Given the description of an element on the screen output the (x, y) to click on. 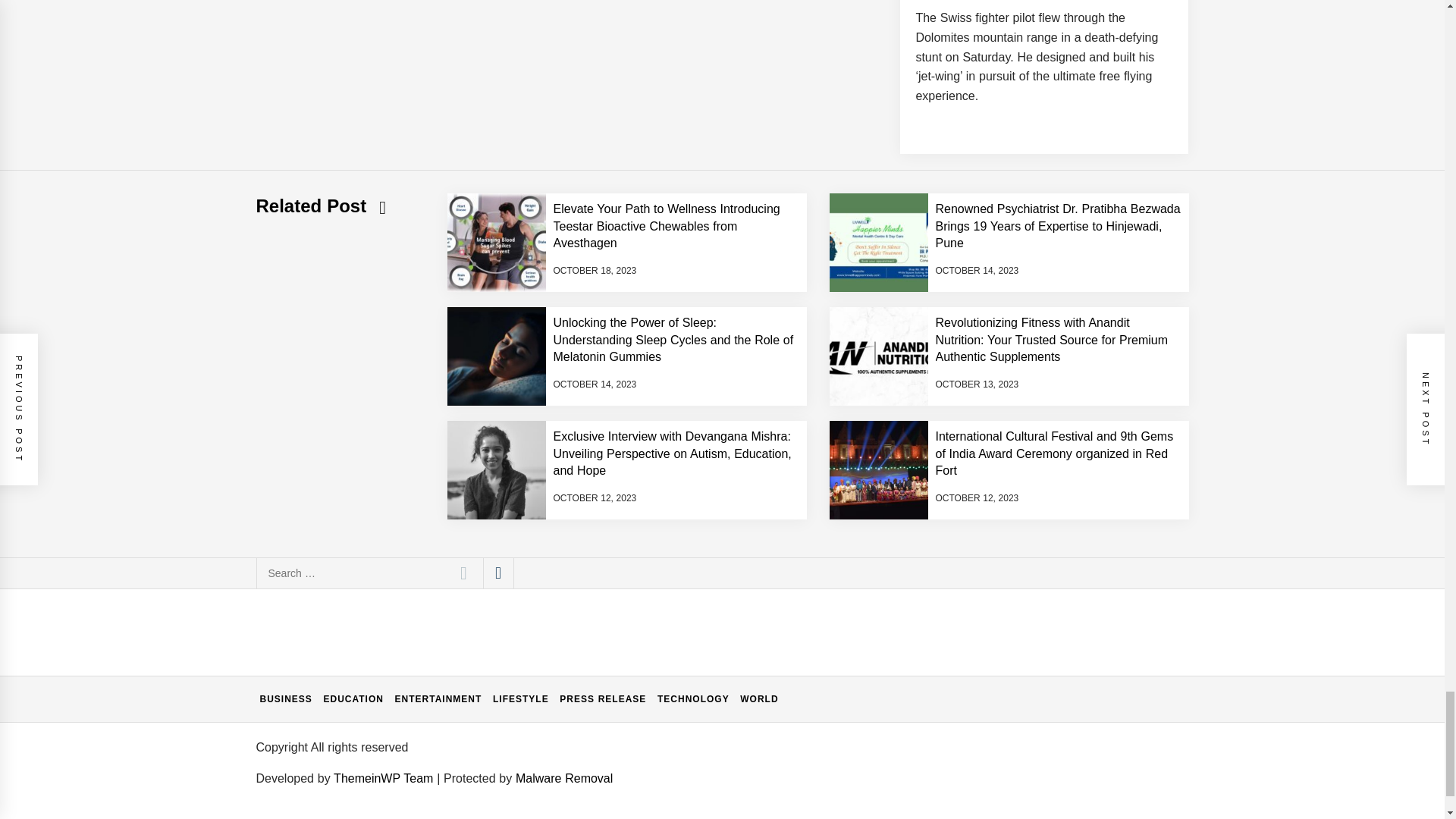
Search (462, 572)
Search (462, 572)
